Given the description of an element on the screen output the (x, y) to click on. 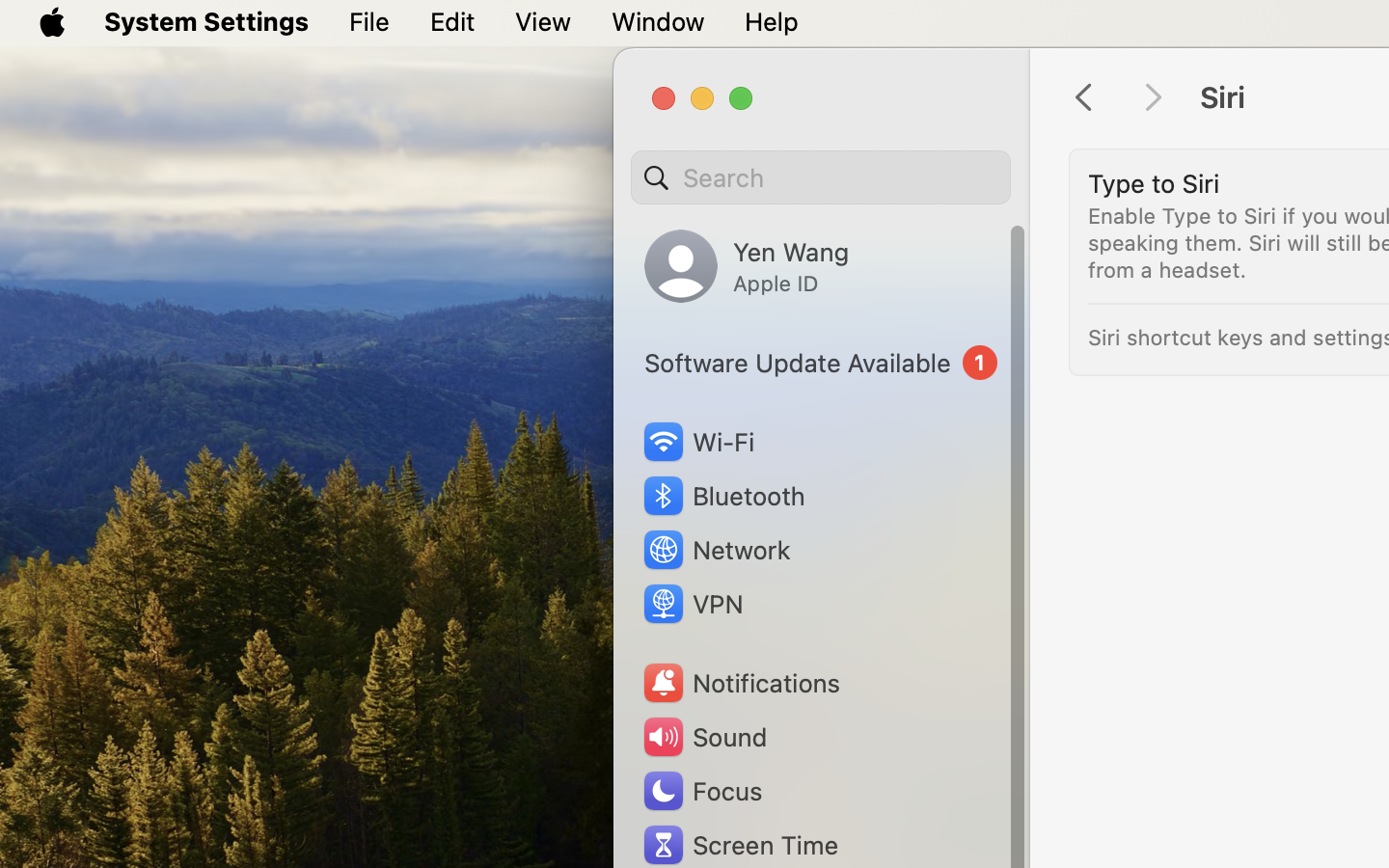
Type to Siri Element type: AXStaticText (1153, 182)
VPN Element type: AXStaticText (691, 603)
Wi‑Fi Element type: AXStaticText (697, 441)
Yen Wang, Apple ID Element type: AXStaticText (746, 265)
Network Element type: AXStaticText (715, 549)
